Given the description of an element on the screen output the (x, y) to click on. 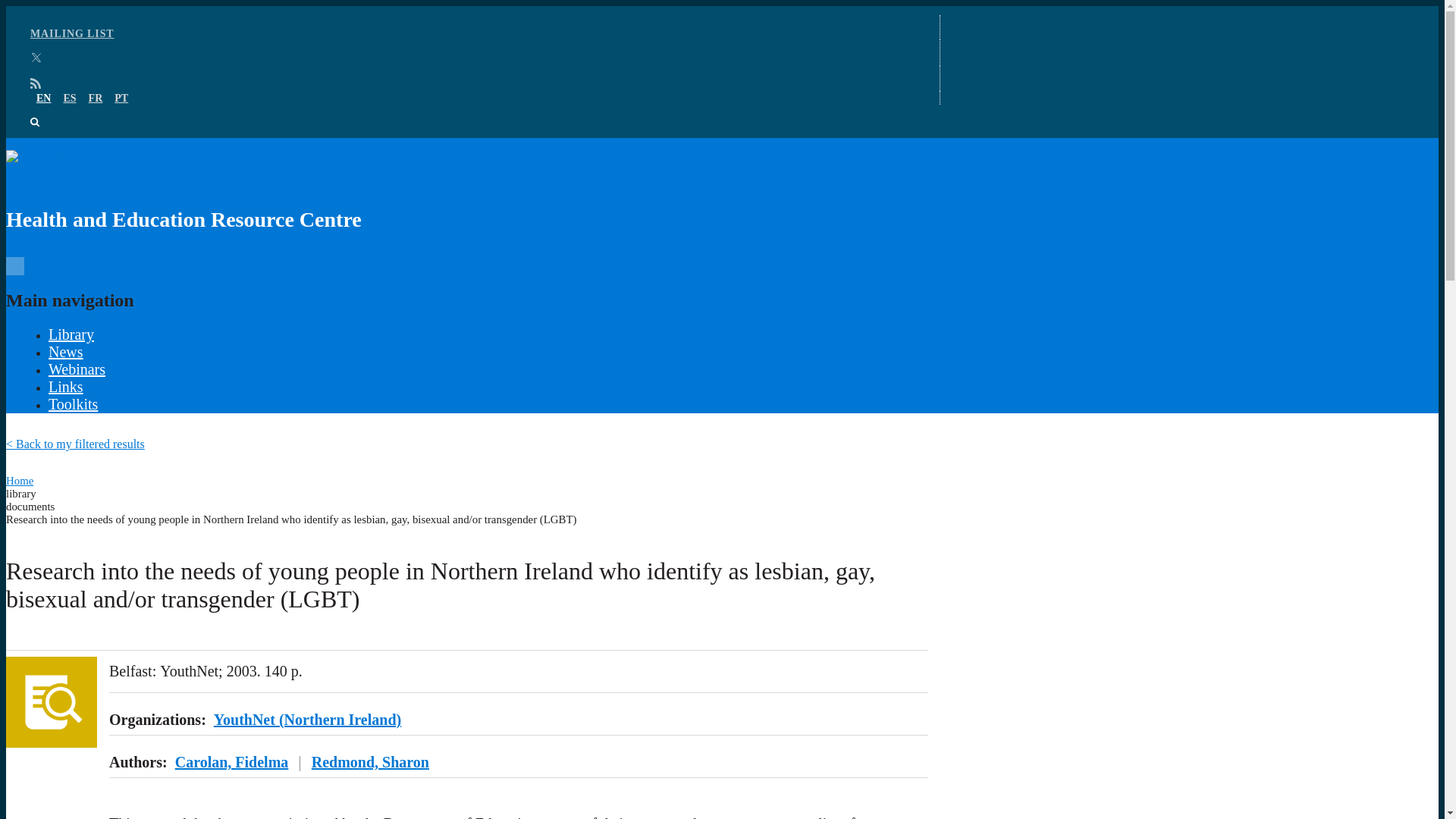
Skip to main content (722, 7)
MAILING LIST (72, 33)
Health and Education Resource Centre (466, 196)
Toolkits (72, 403)
Webinars (76, 369)
Carolan, Fidelma (231, 761)
FR (95, 98)
Library (71, 334)
Home (19, 480)
Redmond, Sharon (370, 761)
